Given the description of an element on the screen output the (x, y) to click on. 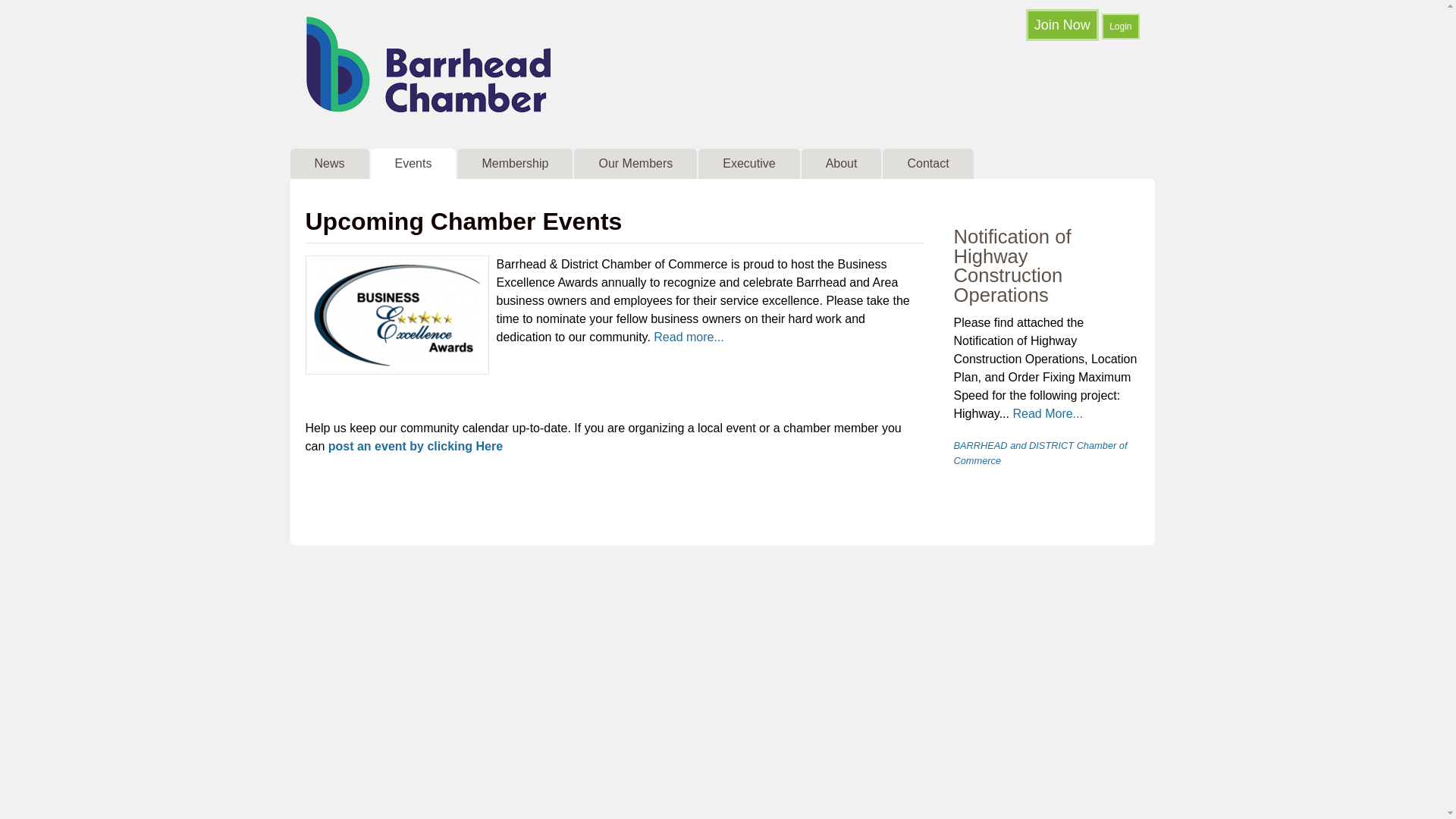
Membership Element type: text (514, 163)
About Element type: text (841, 163)
Executive Element type: text (748, 163)
Our Members Element type: text (635, 163)
News Element type: text (328, 163)
Join Now Element type: text (1062, 24)
Skip to main content Element type: text (704, 0)
post an event by clicking Here Element type: text (415, 445)
BARRHEAD and DISTRICT Chamber of Commerce Element type: text (1040, 452)
Notification of Highway Construction Operations Element type: text (1046, 265)
Events Element type: text (413, 163)
Contact Element type: text (927, 163)
Read More... Element type: text (1047, 413)
Read more... Element type: text (688, 336)
Login Element type: text (1120, 26)
